Given the description of an element on the screen output the (x, y) to click on. 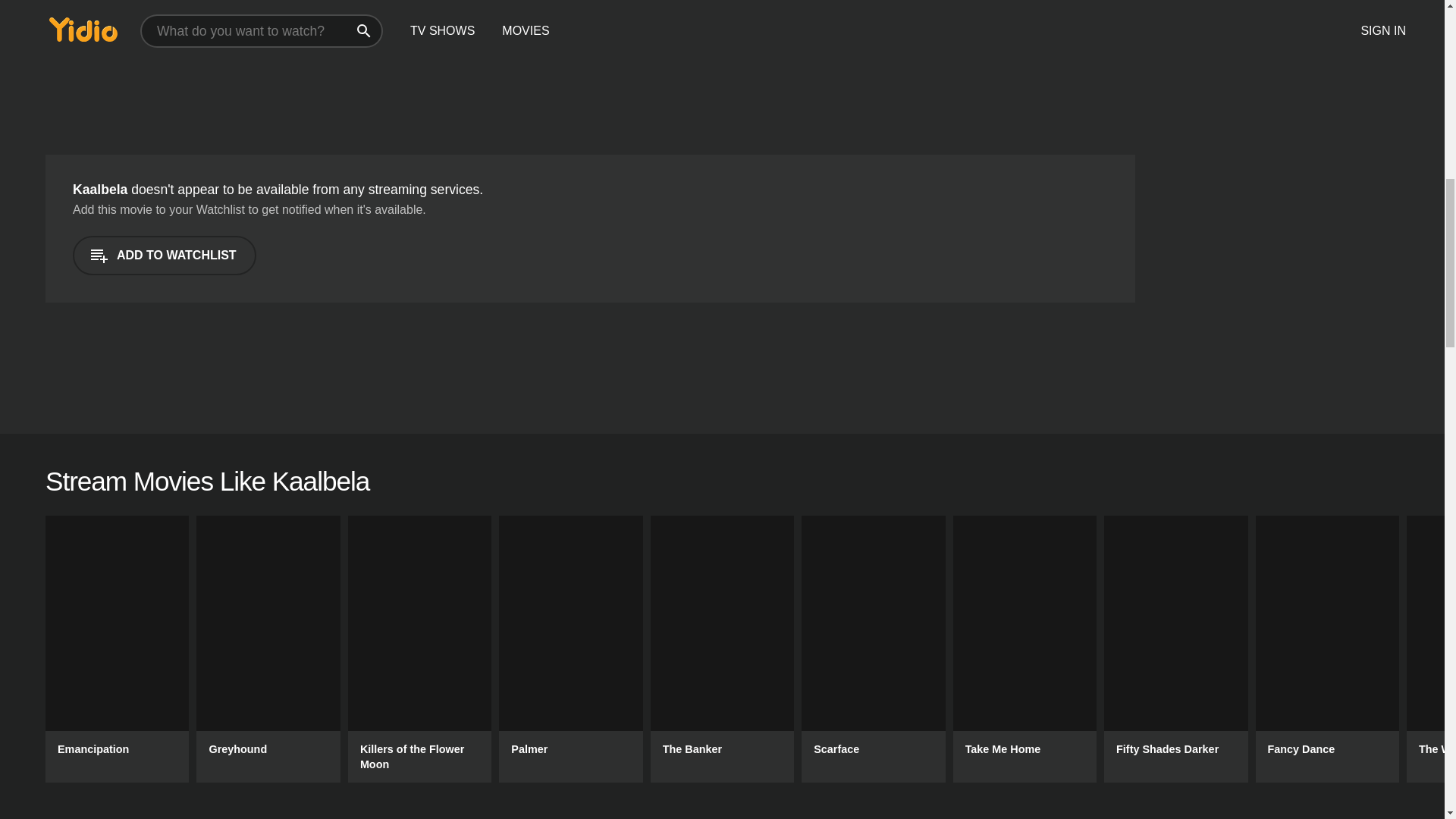
ADD TO WATCHLIST (164, 255)
Advertisement (232, 63)
